Given the description of an element on the screen output the (x, y) to click on. 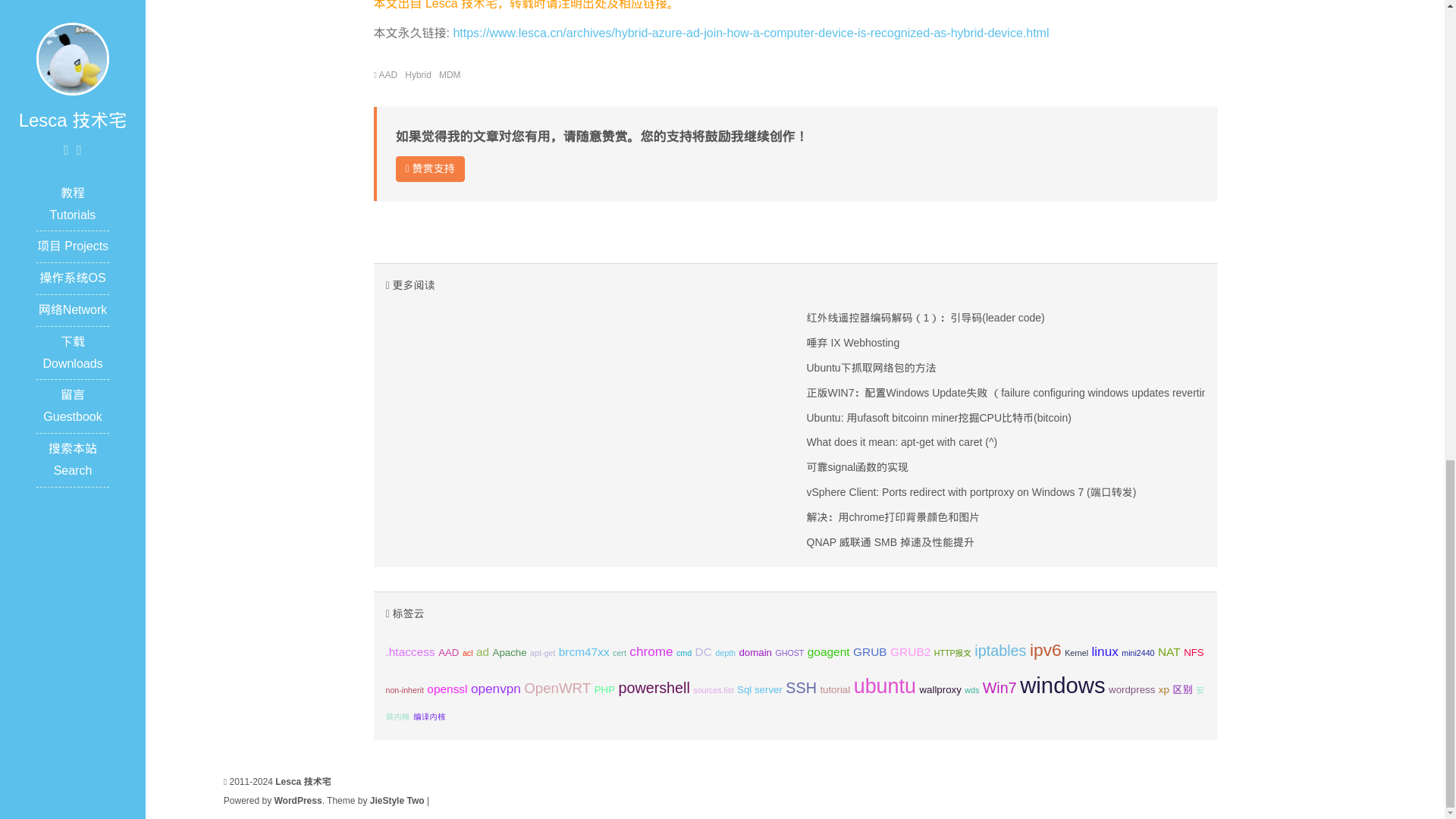
AAD (387, 74)
MDM (450, 74)
Hybrid (417, 74)
